Given the description of an element on the screen output the (x, y) to click on. 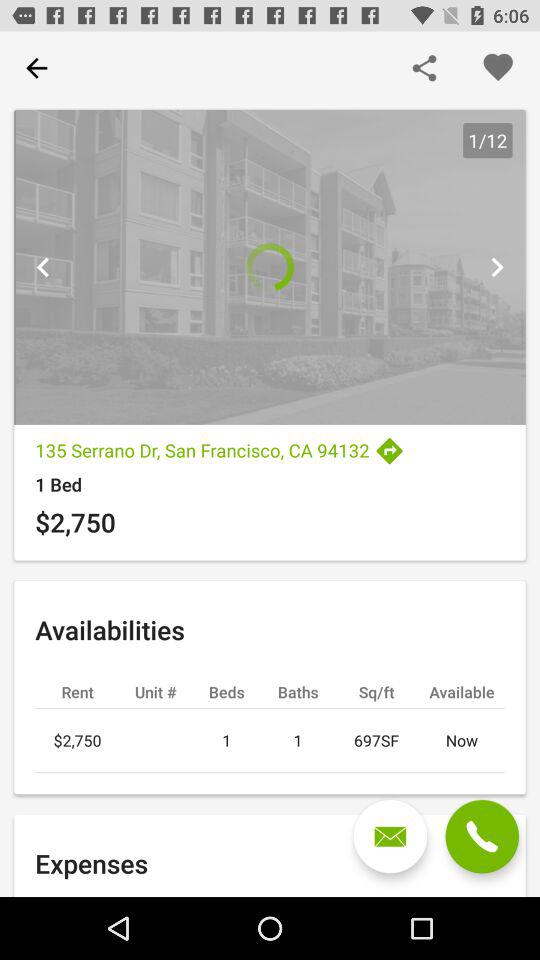
go to previous (496, 267)
